Given the description of an element on the screen output the (x, y) to click on. 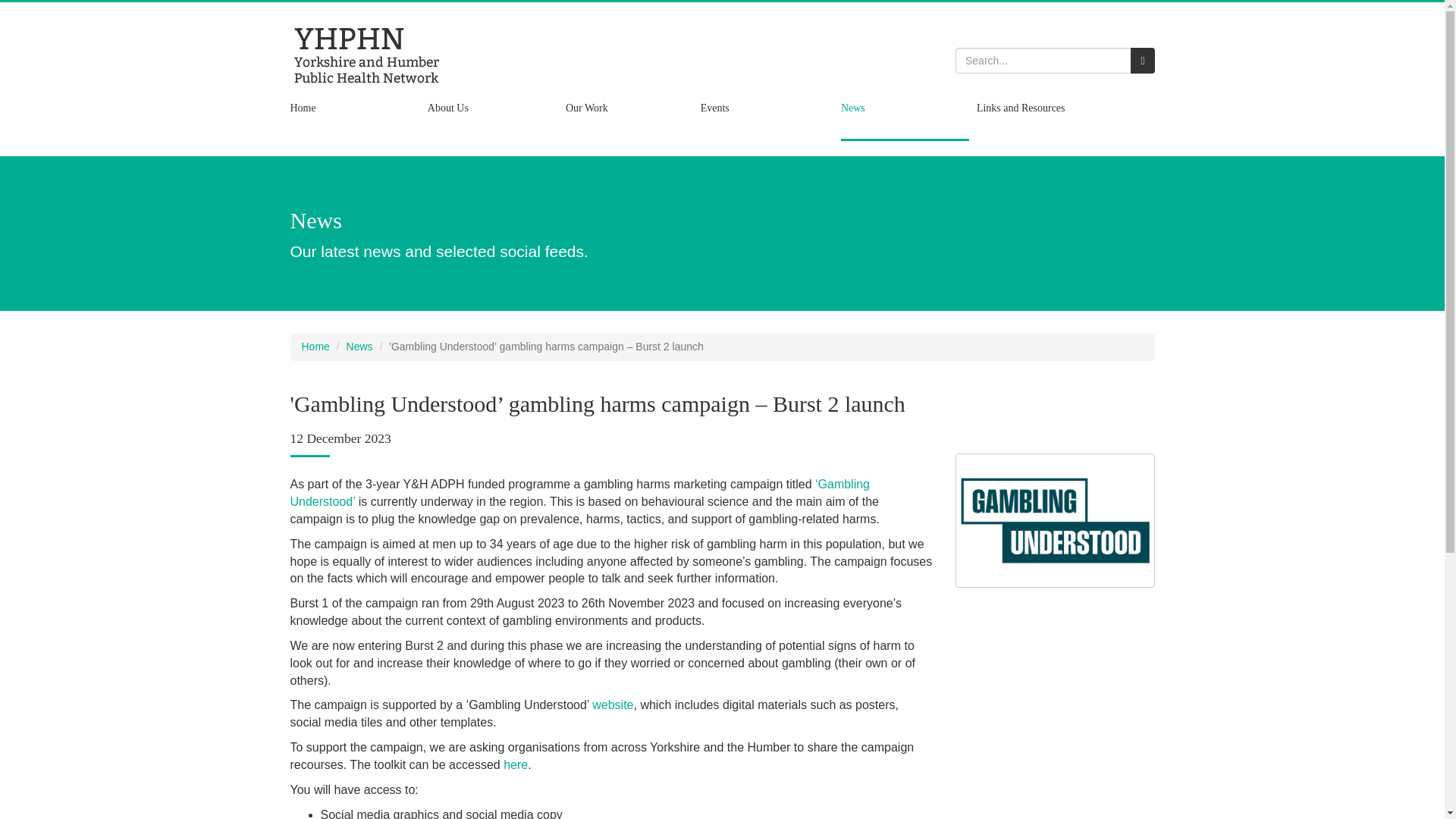
Home (354, 116)
Home (315, 346)
Links and Resources (1050, 116)
News (905, 116)
website (612, 704)
Our Work (629, 116)
here (515, 764)
About Us (492, 116)
Search (1142, 60)
News (359, 346)
